Given the description of an element on the screen output the (x, y) to click on. 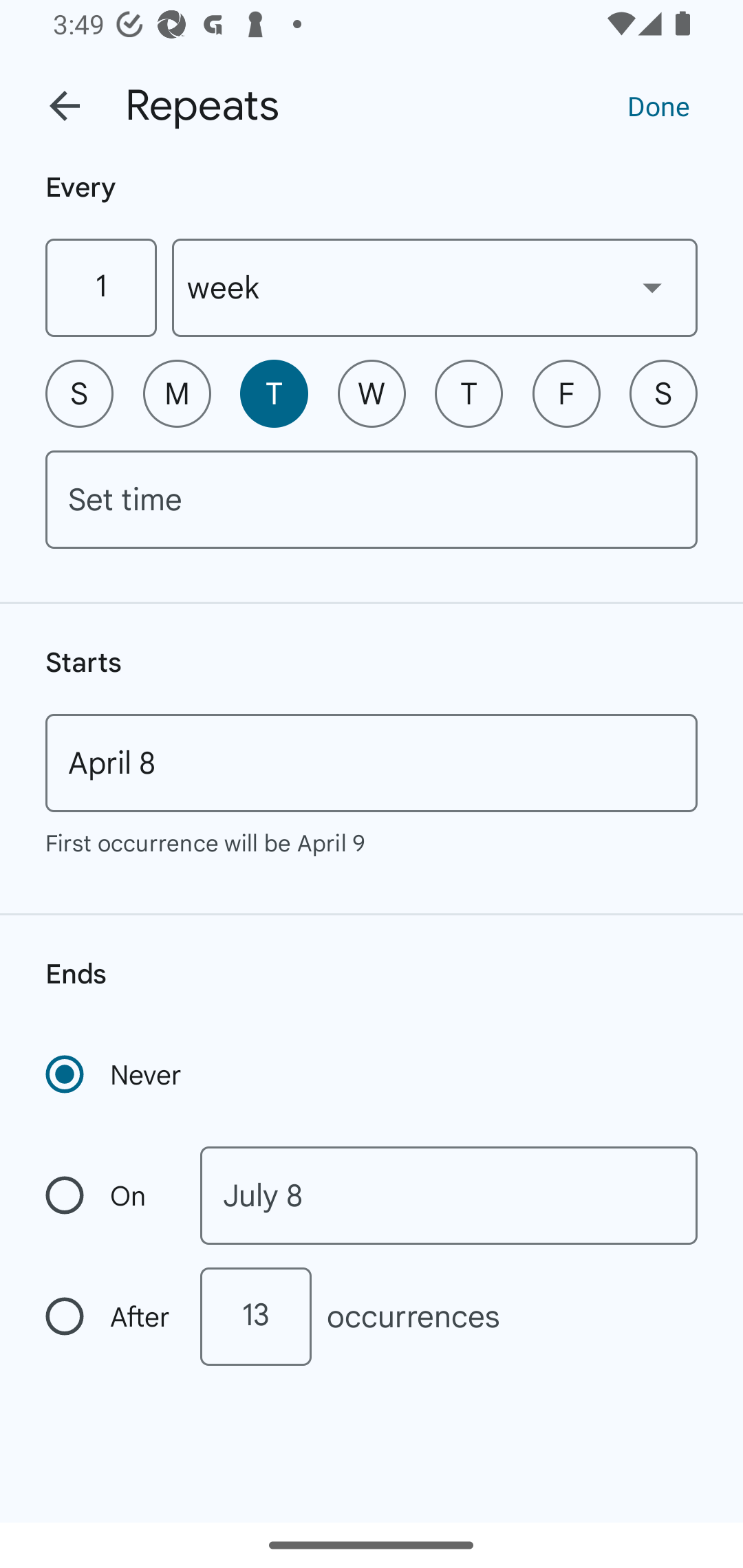
Back (64, 105)
Done (658, 105)
1 (100, 287)
week (434, 287)
Show dropdown menu (652, 286)
S Sunday (79, 393)
M Monday (177, 393)
T Tuesday, selected (273, 393)
W Wednesday (371, 393)
T Thursday (468, 393)
F Friday (566, 393)
S Saturday (663, 393)
Set time (371, 499)
April 8 (371, 762)
Never Recurrence never ends (115, 1074)
July 8 (448, 1195)
On Recurrence ends on a specific date (109, 1195)
13 (255, 1315)
